Given the description of an element on the screen output the (x, y) to click on. 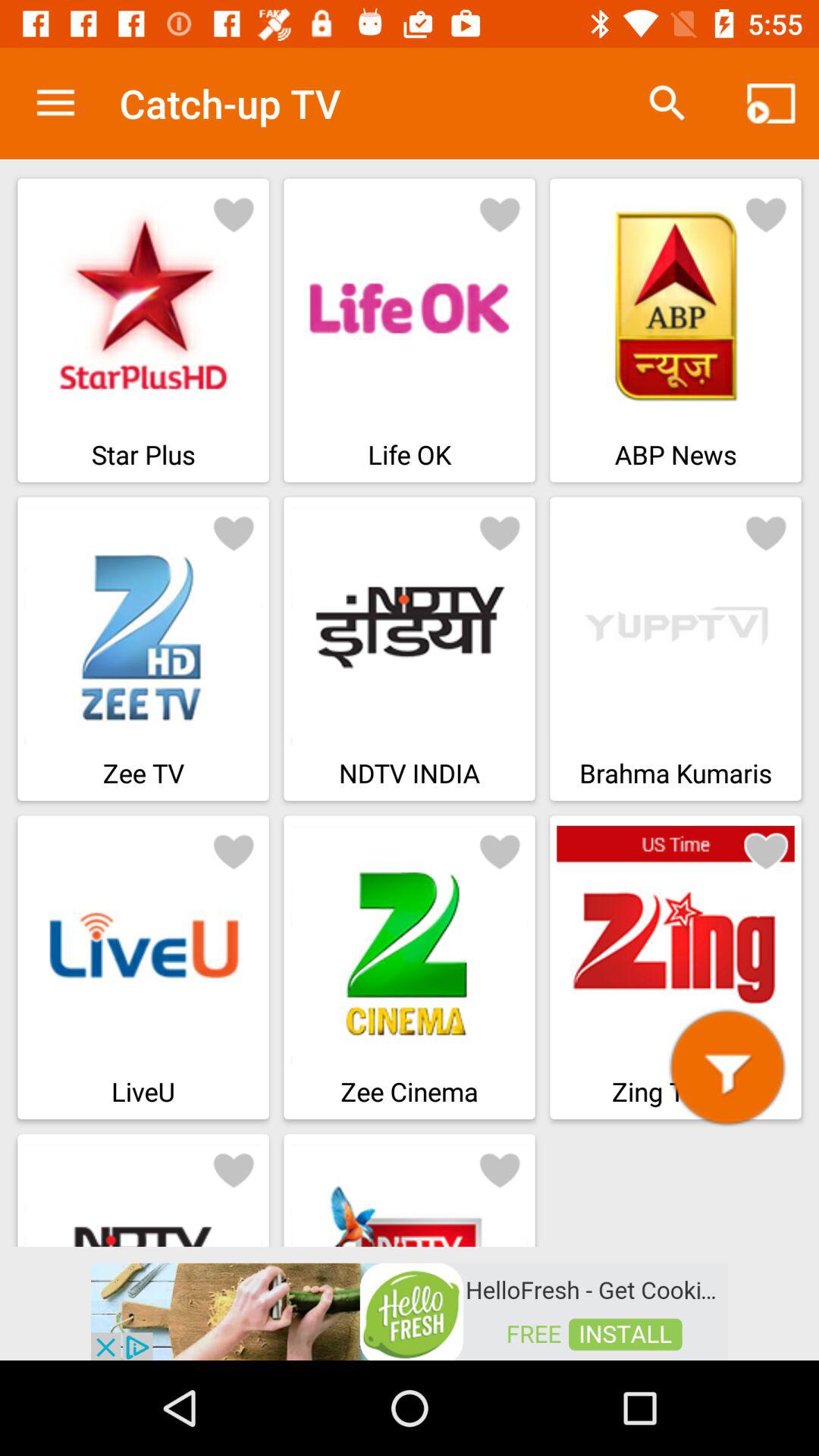
react to the photo (233, 532)
